Given the description of an element on the screen output the (x, y) to click on. 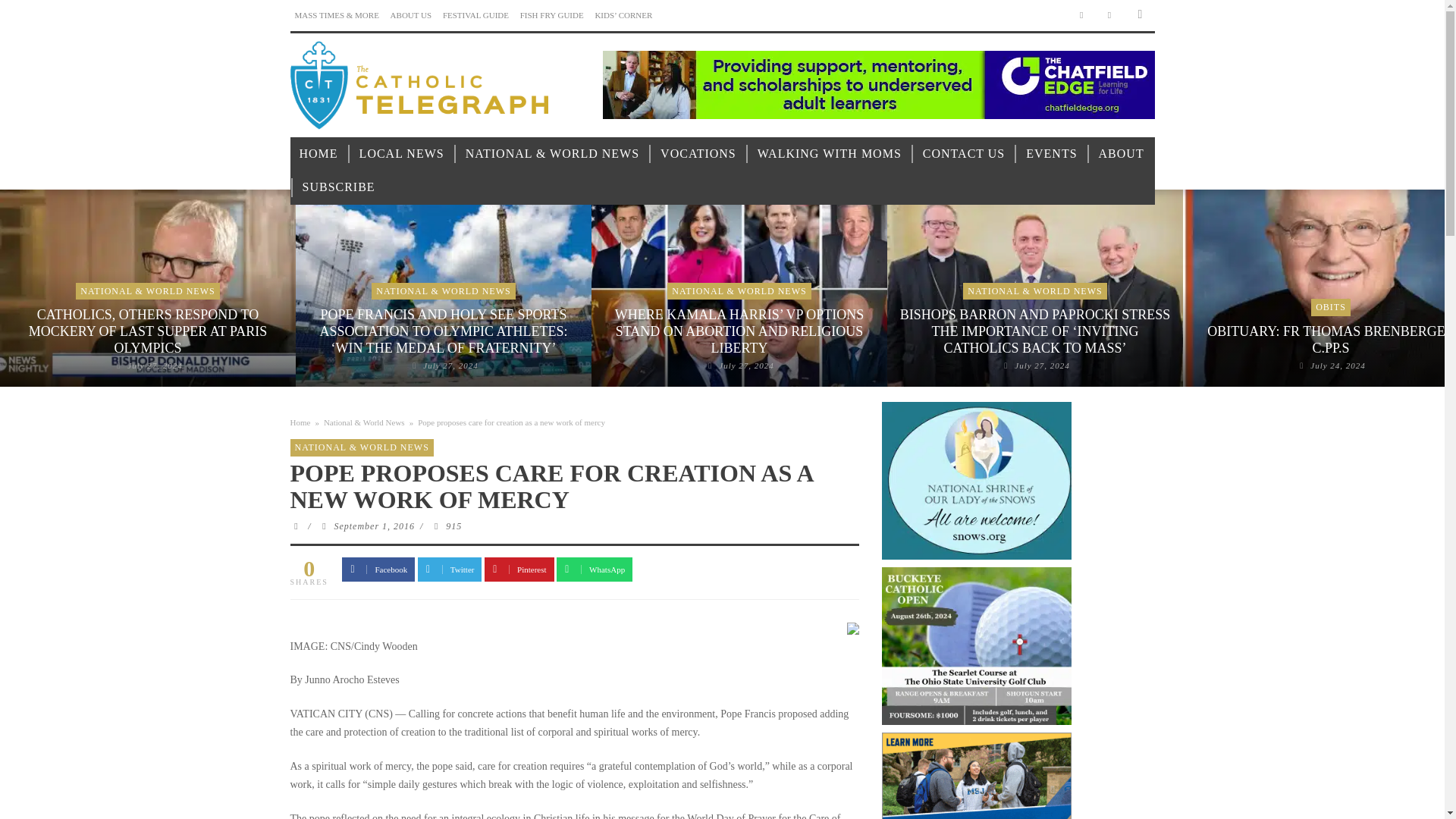
Twitter (1110, 15)
SUBSCRIBE (338, 187)
ABOUT (1121, 154)
Facebook (1081, 15)
FISH FRY GUIDE (551, 15)
LOCAL NEWS (401, 154)
EVENTS (1051, 154)
VOCATIONS (697, 154)
Walking with Moms (829, 154)
HOME (317, 154)
WALKING WITH MOMS (829, 154)
FESTIVAL GUIDE (475, 15)
ABOUT US (410, 15)
